Given the description of an element on the screen output the (x, y) to click on. 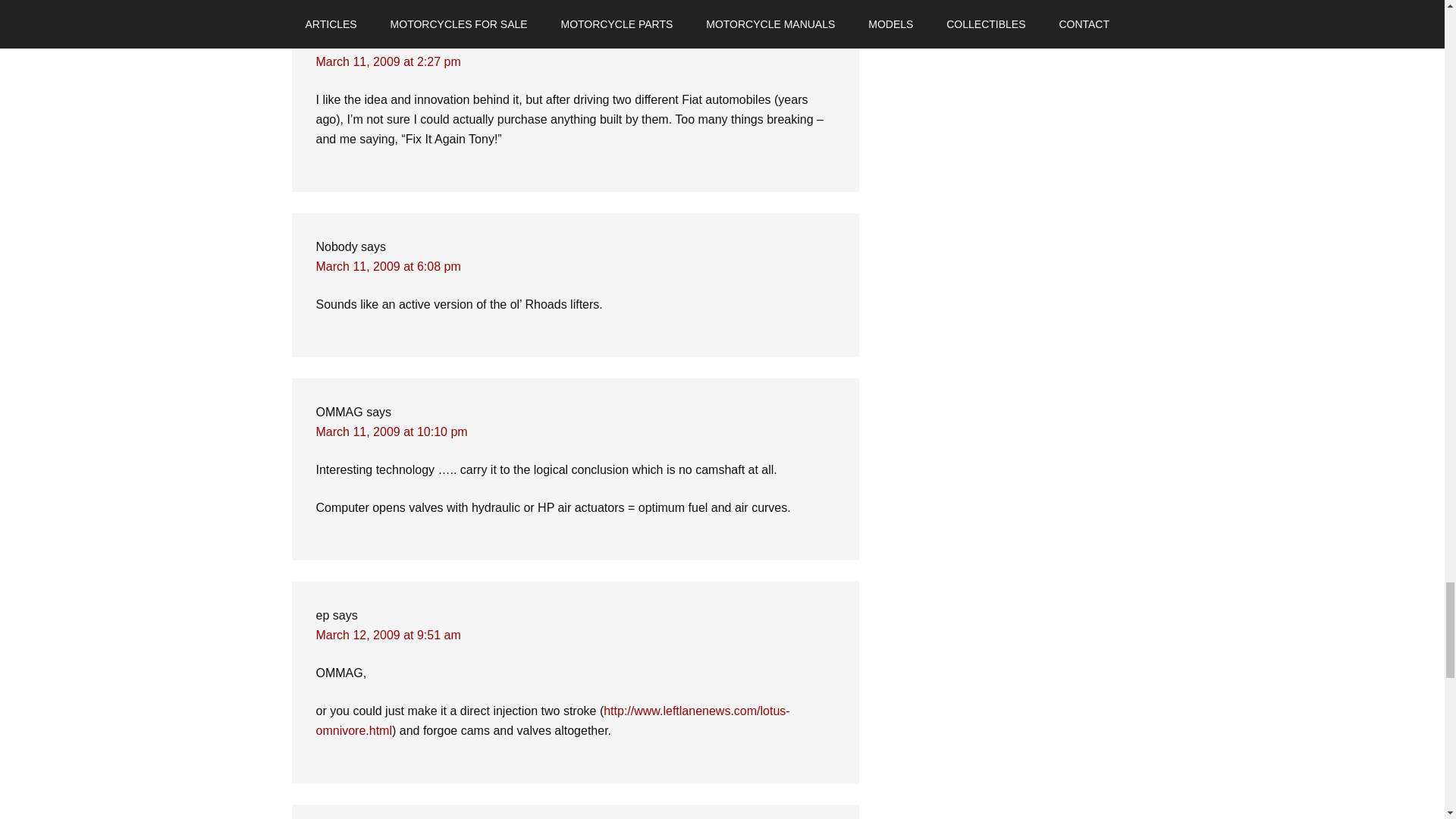
March 12, 2009 at 9:51 am (387, 634)
March 11, 2009 at 2:27 pm (387, 61)
March 11, 2009 at 6:08 pm (387, 266)
March 11, 2009 at 10:10 pm (391, 431)
